Given the description of an element on the screen output the (x, y) to click on. 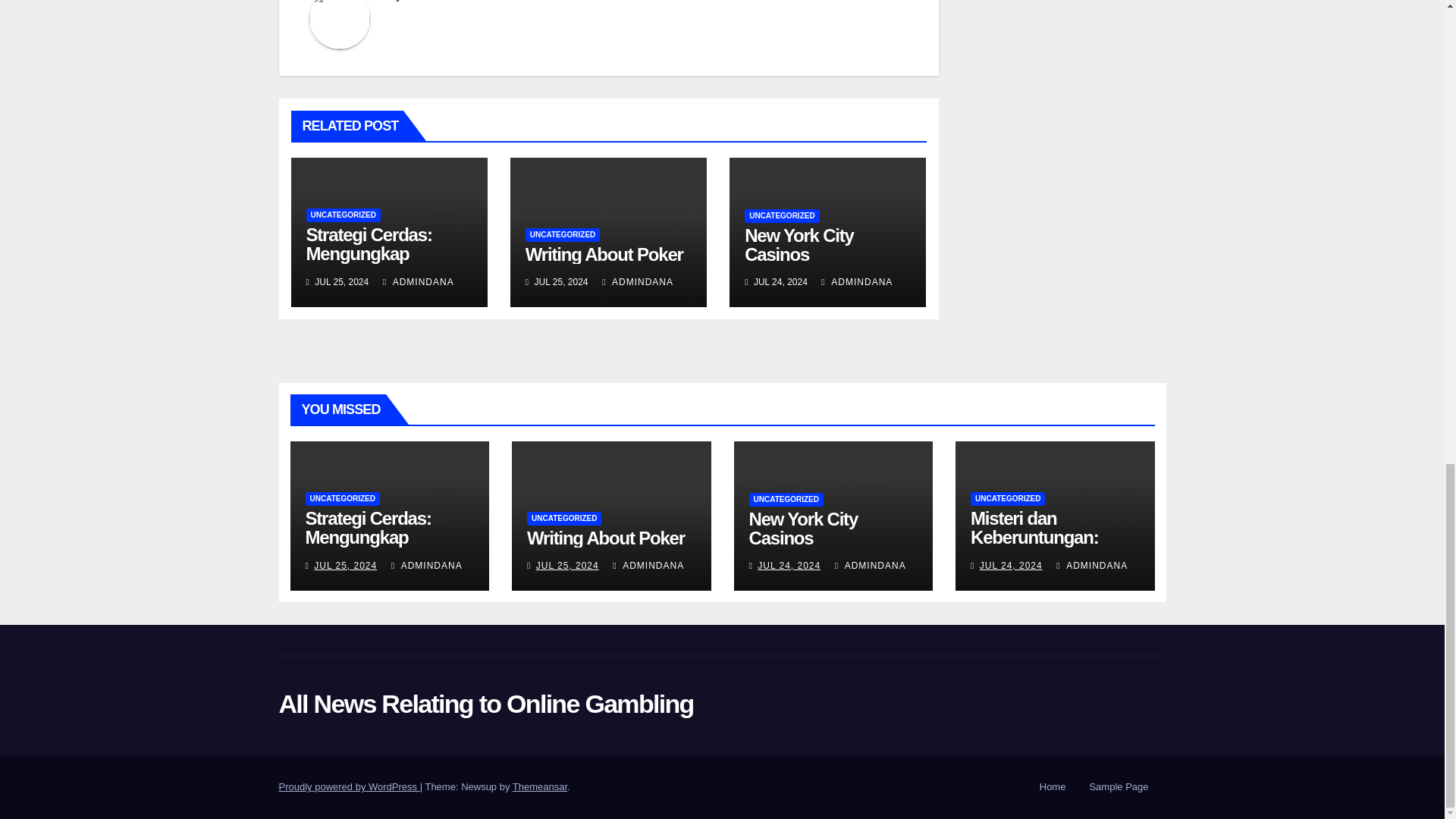
admindana (428, 0)
Writing About Poker (603, 254)
ADMINDANA (418, 281)
UNCATEGORIZED (342, 214)
ADMINDANA (856, 281)
UNCATEGORIZED (562, 234)
ADMINDANA (427, 565)
Home (1052, 786)
Permalink to: Writing About Poker (605, 537)
Permalink to: New York City Casinos (804, 527)
JUL 25, 2024 (345, 565)
ADMINDANA (637, 281)
